Given the description of an element on the screen output the (x, y) to click on. 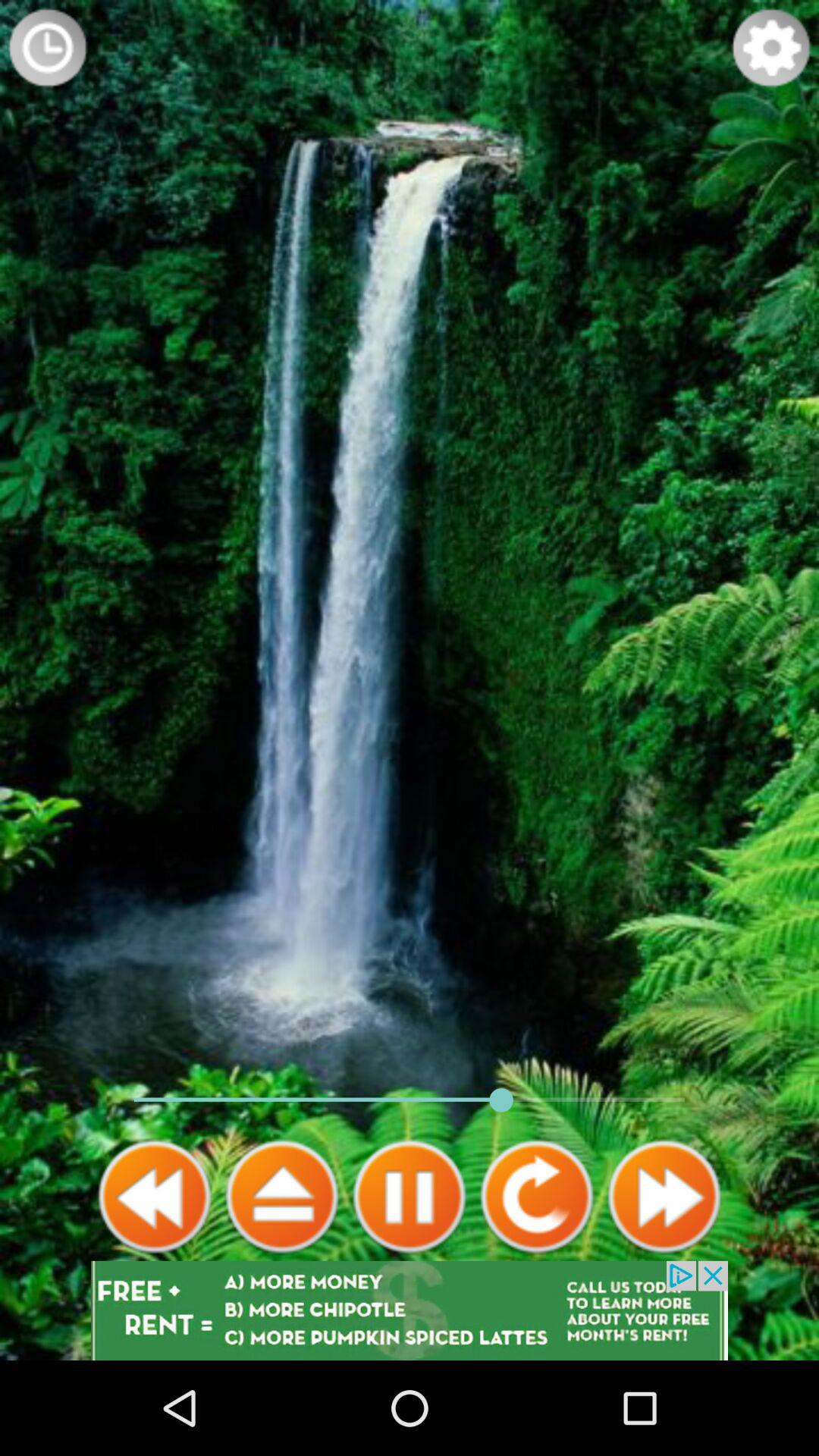
next song (664, 1196)
